Given the description of an element on the screen output the (x, y) to click on. 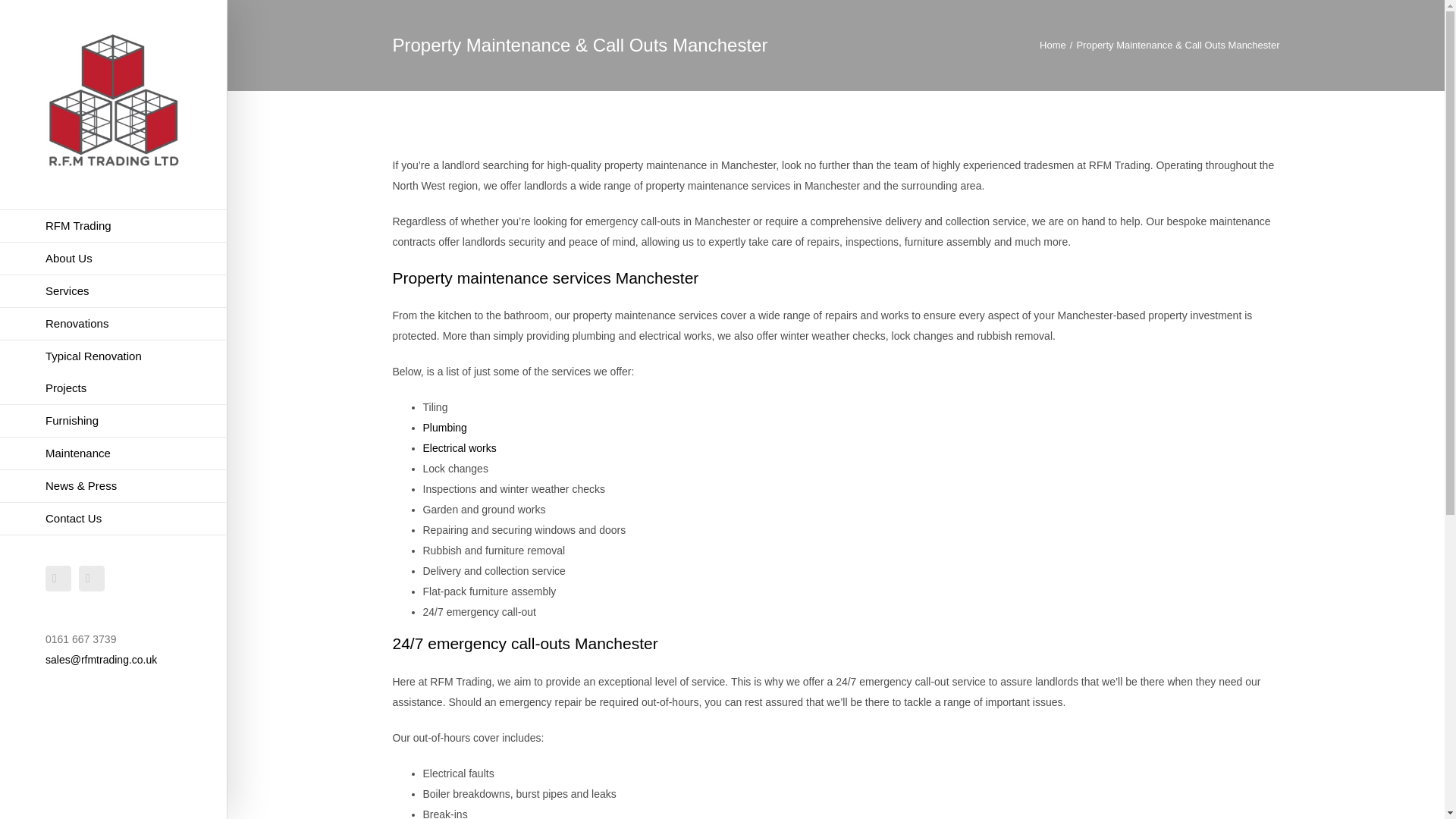
Typical Renovation Projects (113, 372)
Renovations (113, 323)
Plumbing (445, 427)
Maintenance (113, 453)
Electrical works (459, 448)
About Us (113, 258)
Furnishing (113, 420)
RFM Trading (113, 225)
Twitter (91, 578)
Services (113, 291)
